Given the description of an element on the screen output the (x, y) to click on. 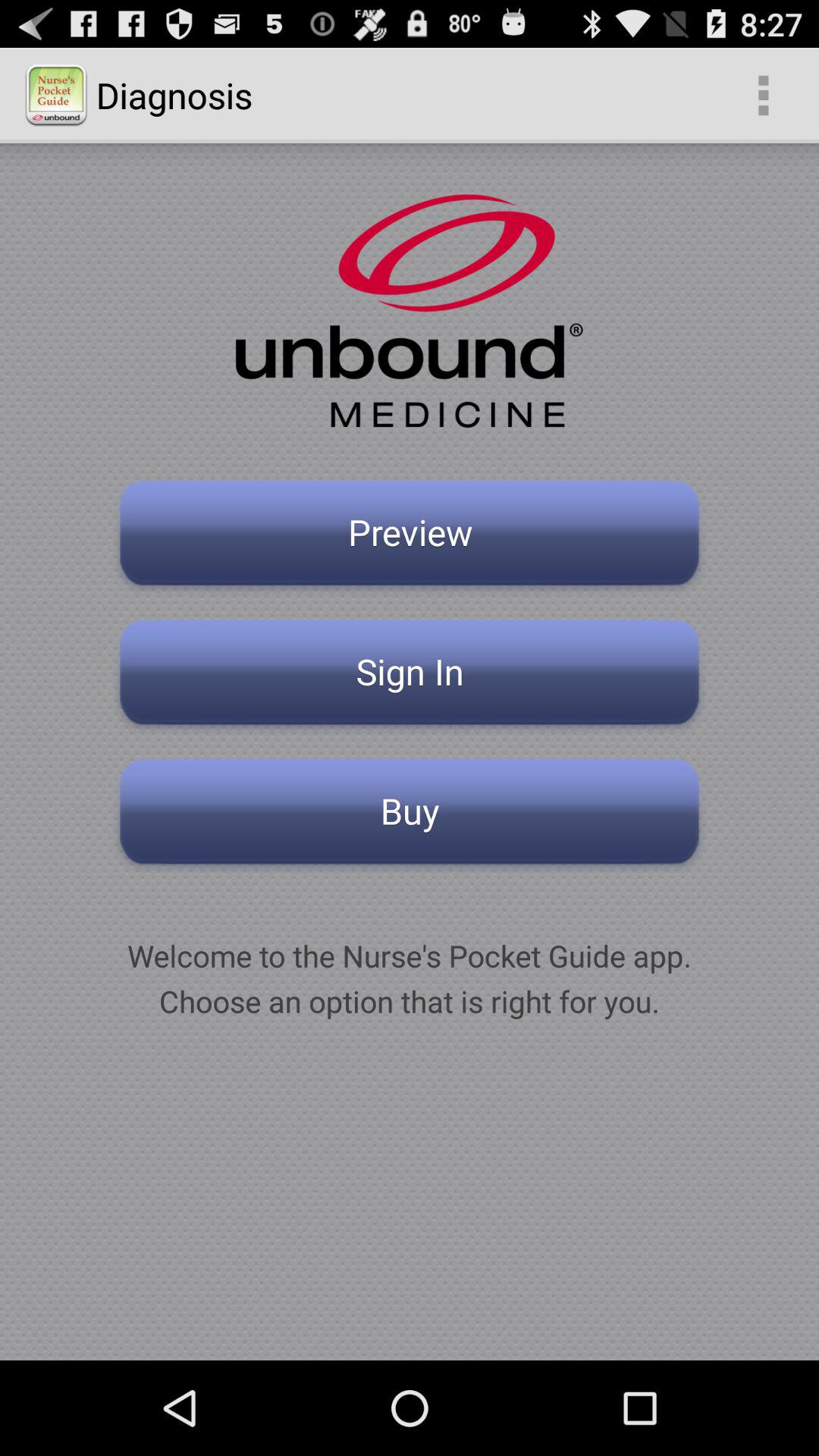
launch item above buy button (409, 676)
